Given the description of an element on the screen output the (x, y) to click on. 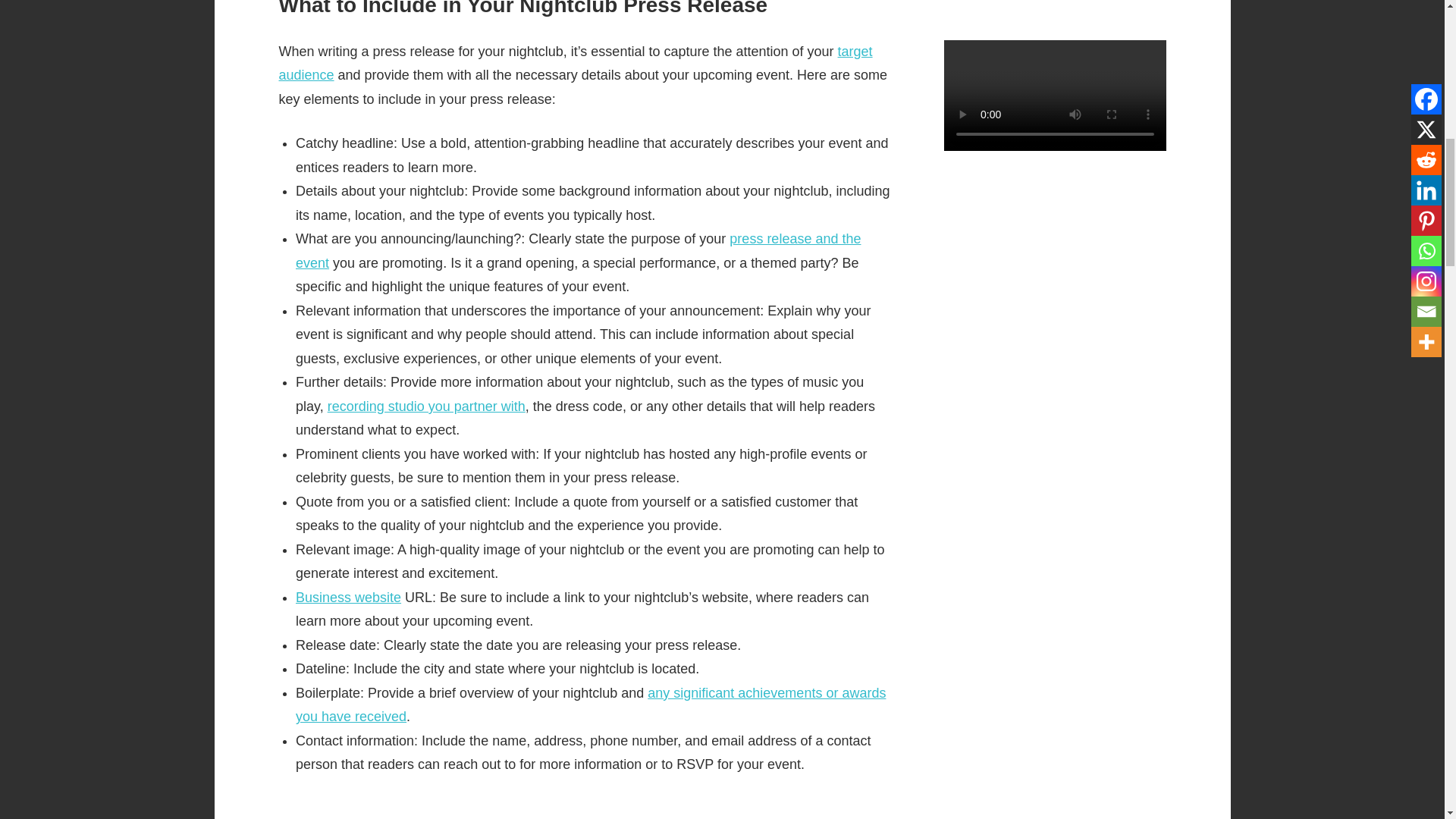
recording studio you partner with (426, 406)
press release and the event (577, 250)
any significant achievements or awards you have received (590, 704)
Business website (348, 597)
target audience (575, 63)
